Given the description of an element on the screen output the (x, y) to click on. 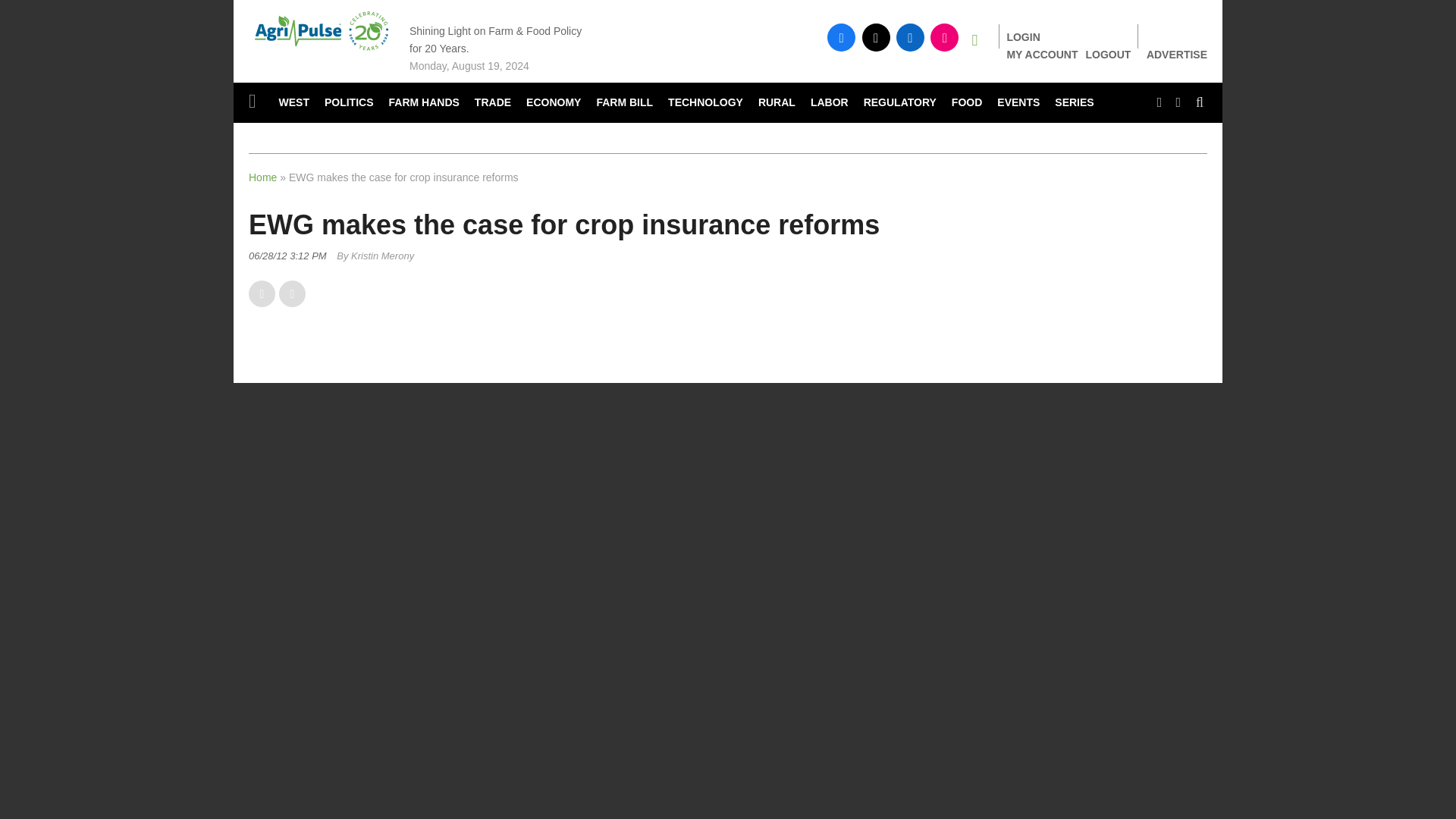
MY ACCOUNT (1041, 54)
ECONOMY (553, 102)
FARM HANDS (424, 102)
LOGOUT (1108, 54)
FOOD (966, 102)
RURAL (777, 102)
FARM BILL (624, 102)
WEST (293, 102)
ADVERTISE (1177, 54)
POLITICS (349, 102)
